Given the description of an element on the screen output the (x, y) to click on. 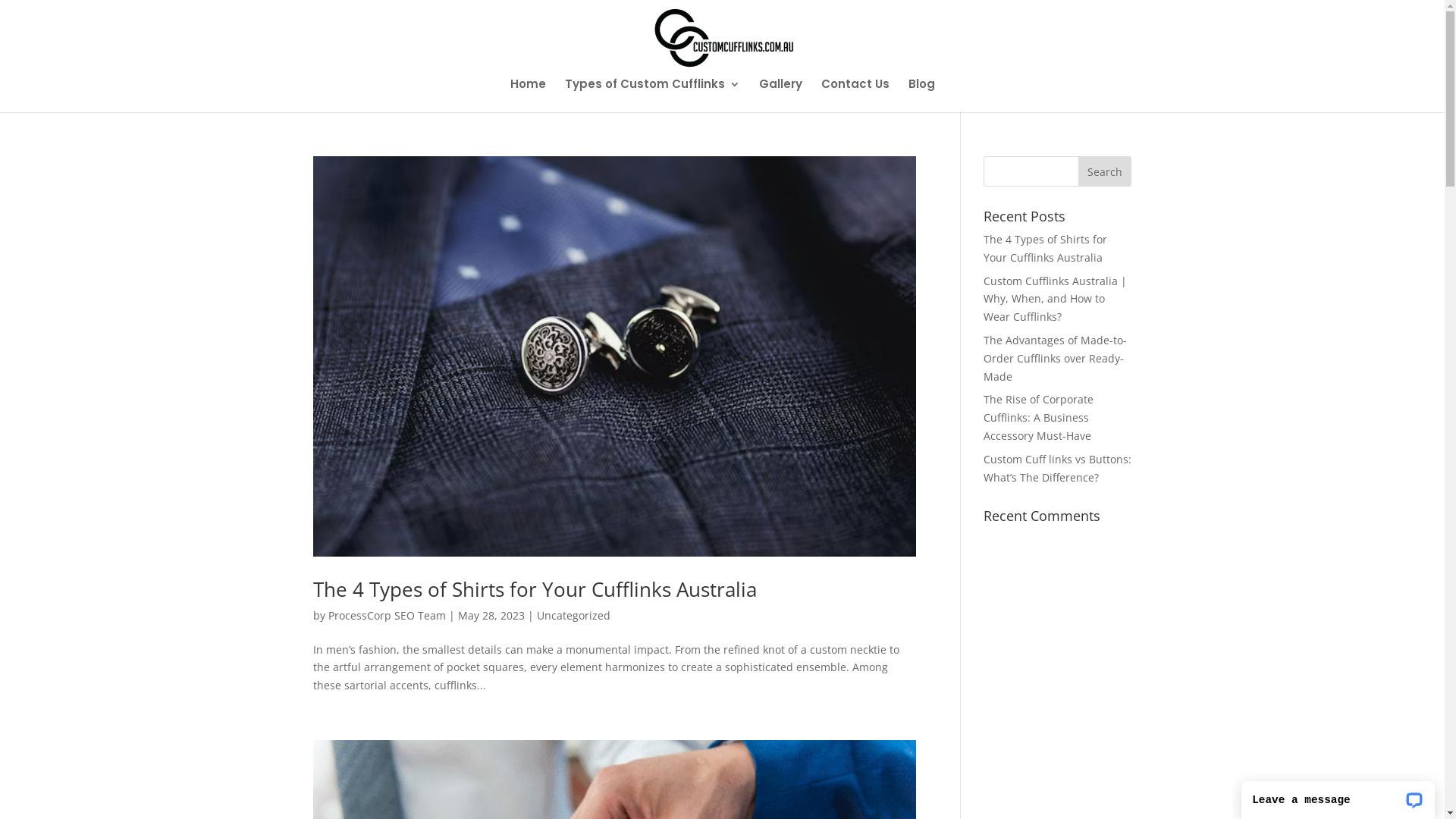
The 4 Types of Shirts for Your Cufflinks Australia Element type: text (1045, 248)
Contact Us Element type: text (854, 95)
Search Element type: text (1104, 171)
ProcessCorp SEO Team Element type: text (386, 615)
The Advantages of Made-to-Order Cufflinks over Ready-Made Element type: text (1054, 357)
Blog Element type: text (921, 95)
The 4 Types of Shirts for Your Cufflinks Australia Element type: text (534, 588)
Home Element type: text (527, 95)
Gallery Element type: text (779, 95)
Uncategorized Element type: text (573, 615)
Types of Custom Cufflinks Element type: text (651, 95)
